Given the description of an element on the screen output the (x, y) to click on. 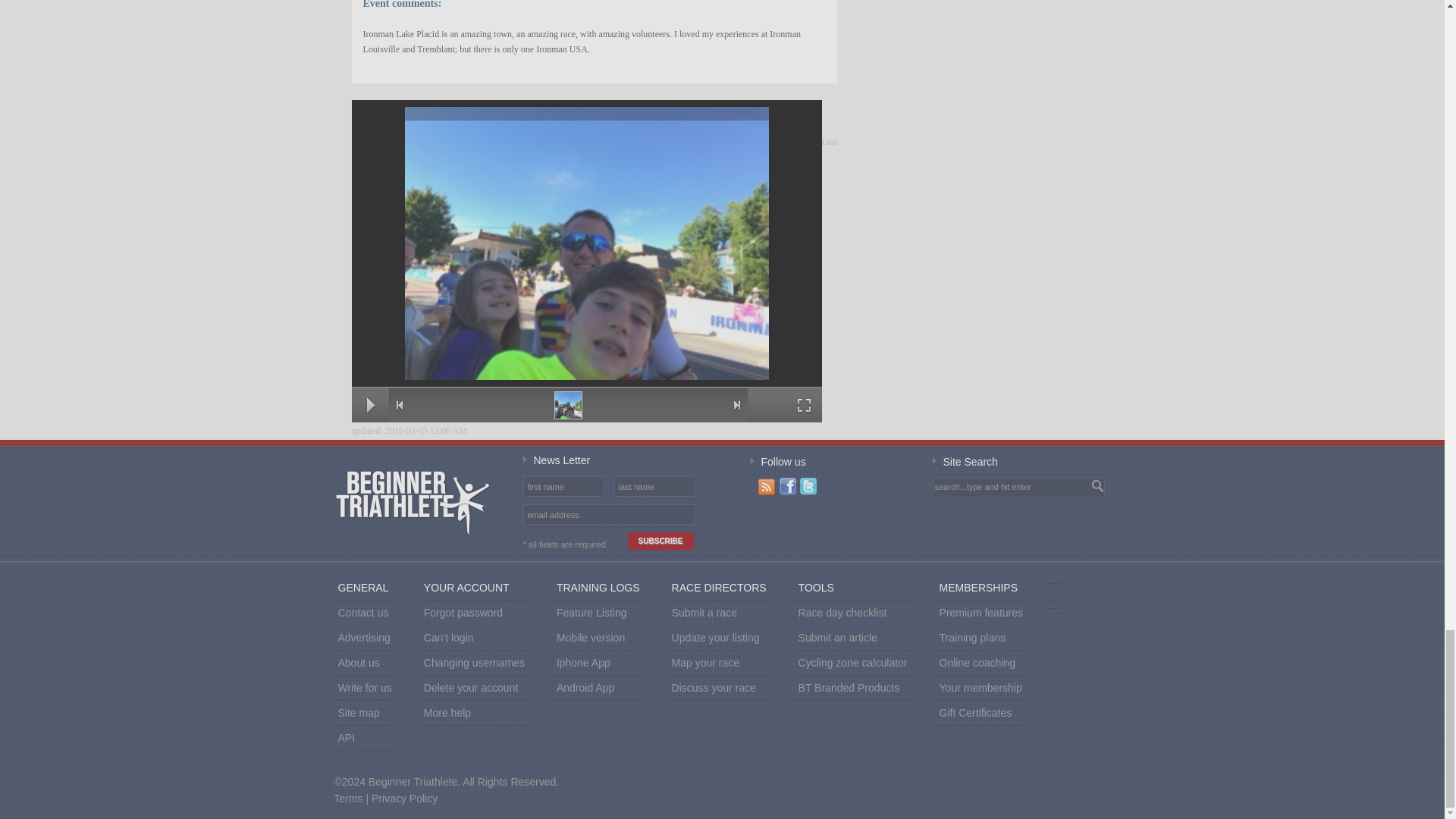
Previous Page (399, 405)
Powered by TN3 Gallery (765, 404)
Start Slideshow (370, 405)
last name (654, 486)
search...type and hit enter (1000, 486)
first name (562, 486)
Maximize (803, 405)
Next Page (737, 405)
email address (608, 514)
